Given the description of an element on the screen output the (x, y) to click on. 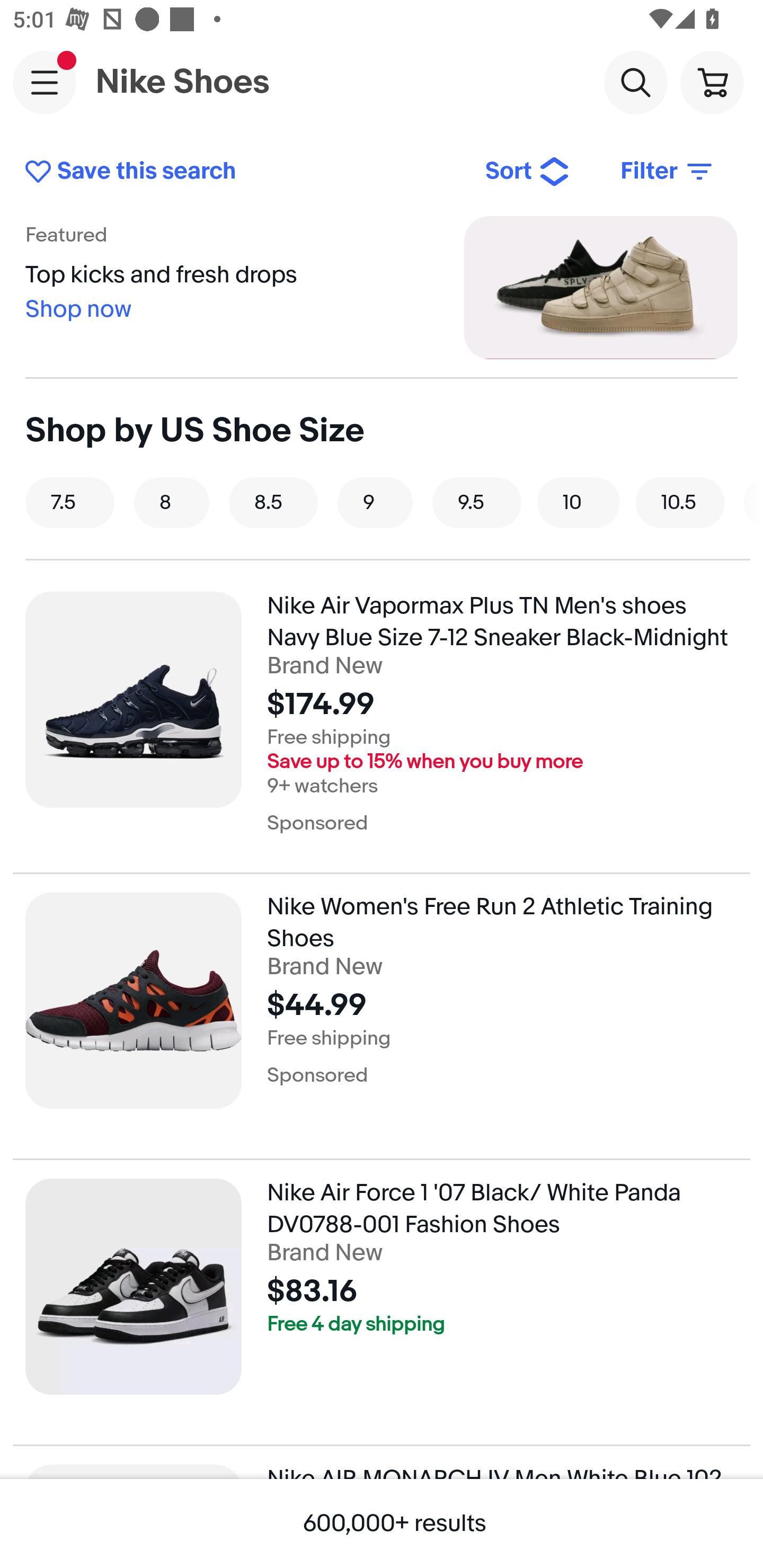
Main navigation, notification is pending, open (44, 82)
Search (635, 81)
Cart button shopping cart (711, 81)
Save this search (241, 171)
Sort (527, 171)
Filter (667, 171)
Featured Top kicks and fresh drops Shop now (381, 287)
7.5 7.5, US Shoe Size (69, 502)
8 8, US Shoe Size (171, 502)
8.5 8.5, US Shoe Size (273, 502)
9 9, US Shoe Size (374, 502)
9.5 9.5, US Shoe Size (476, 502)
10 10, US Shoe Size (578, 502)
10.5 10.5, US Shoe Size (679, 502)
